Given the description of an element on the screen output the (x, y) to click on. 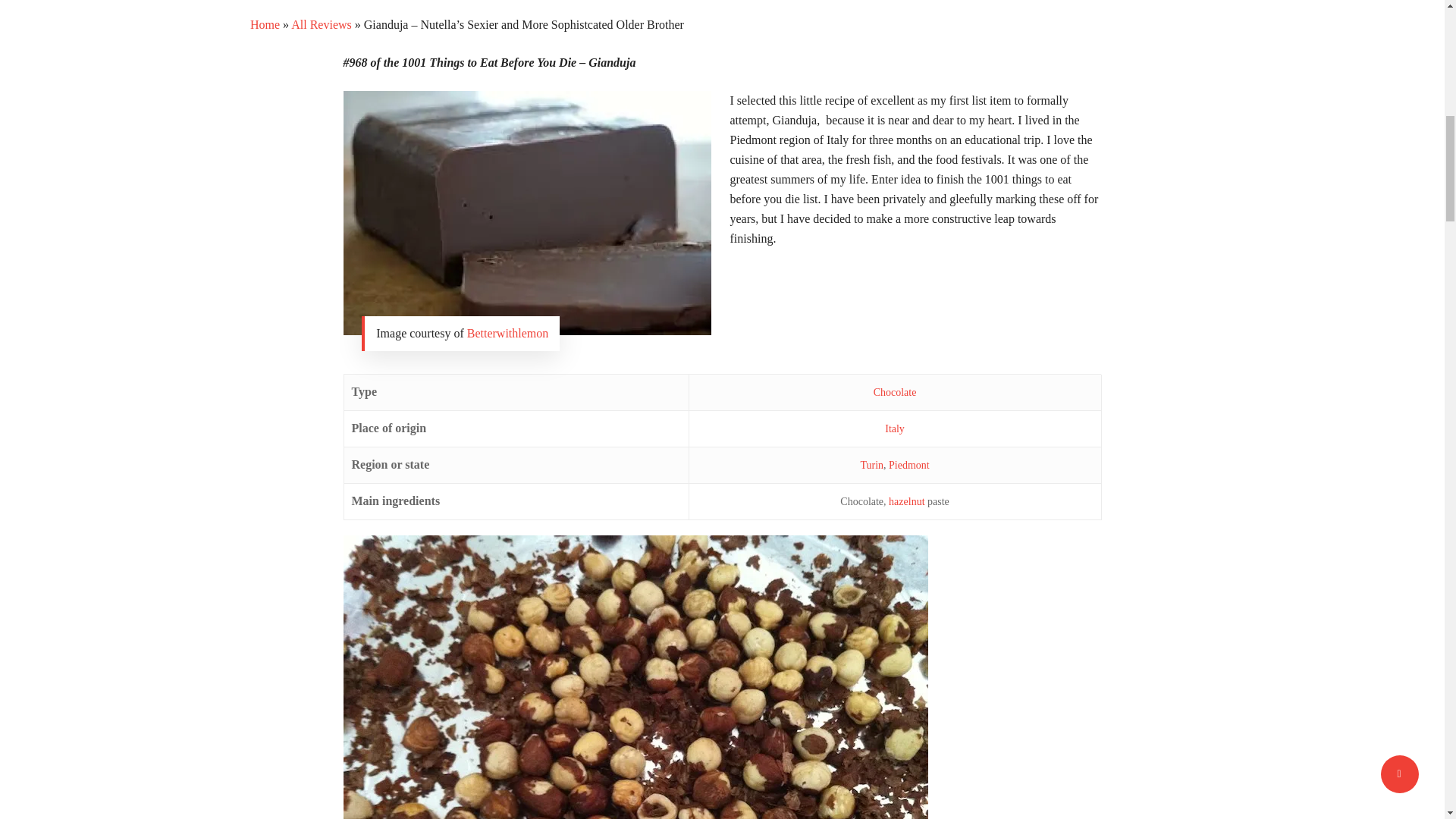
Chocolate (895, 392)
Piedmont (909, 464)
Home (264, 24)
Piedmont (909, 464)
Italy (894, 428)
Turin (871, 464)
Turin (871, 464)
hazelnut (906, 501)
Italy (894, 428)
Betterwithlemon (507, 332)
